Given the description of an element on the screen output the (x, y) to click on. 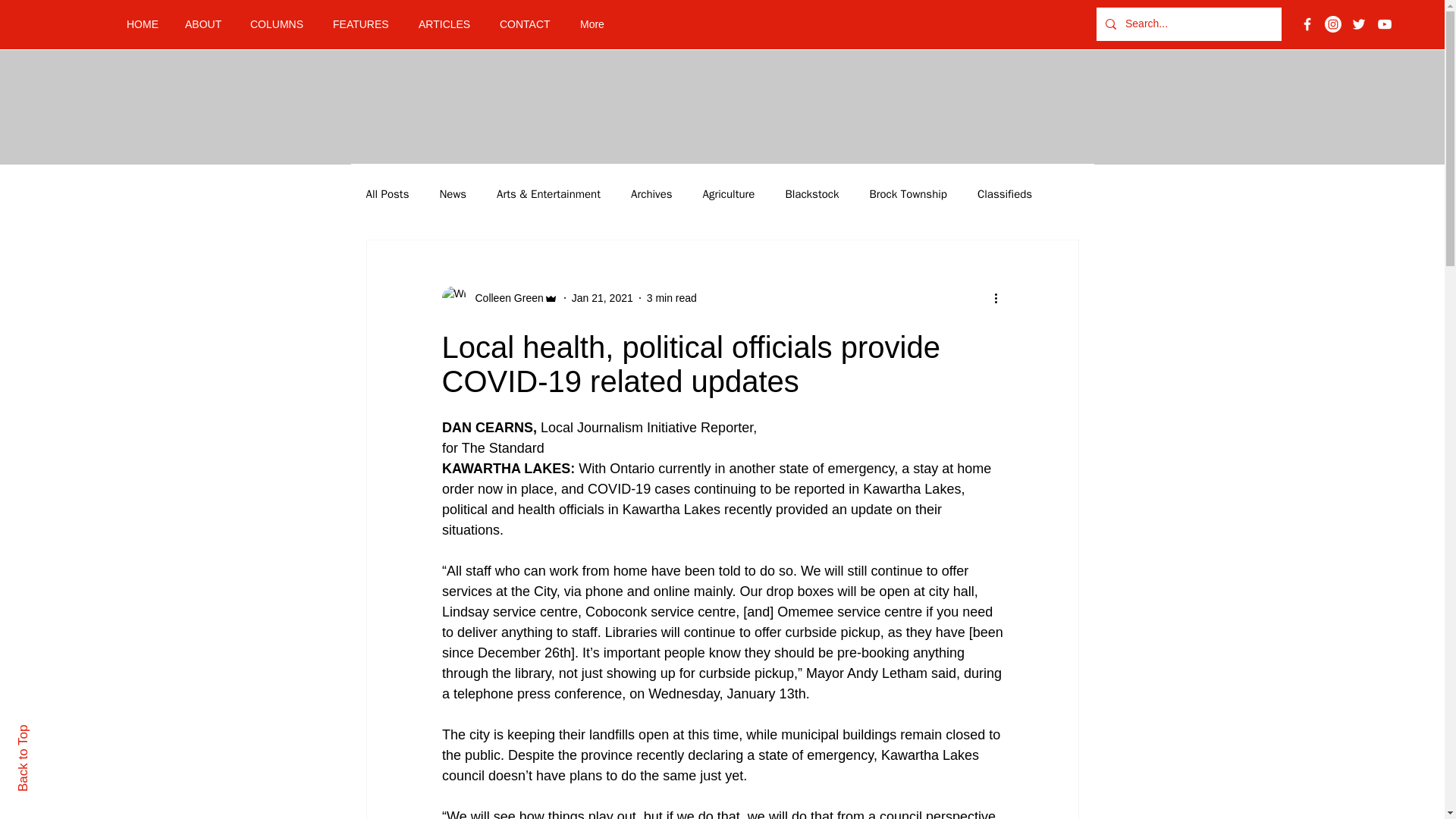
Brock Township (907, 193)
Jan 21, 2021 (602, 297)
3 min read (671, 297)
Archives (651, 193)
Agriculture (729, 193)
News (452, 193)
ABOUT (205, 24)
Colleen Green (504, 297)
CONTACT (528, 24)
HOME (144, 24)
